Given the description of an element on the screen output the (x, y) to click on. 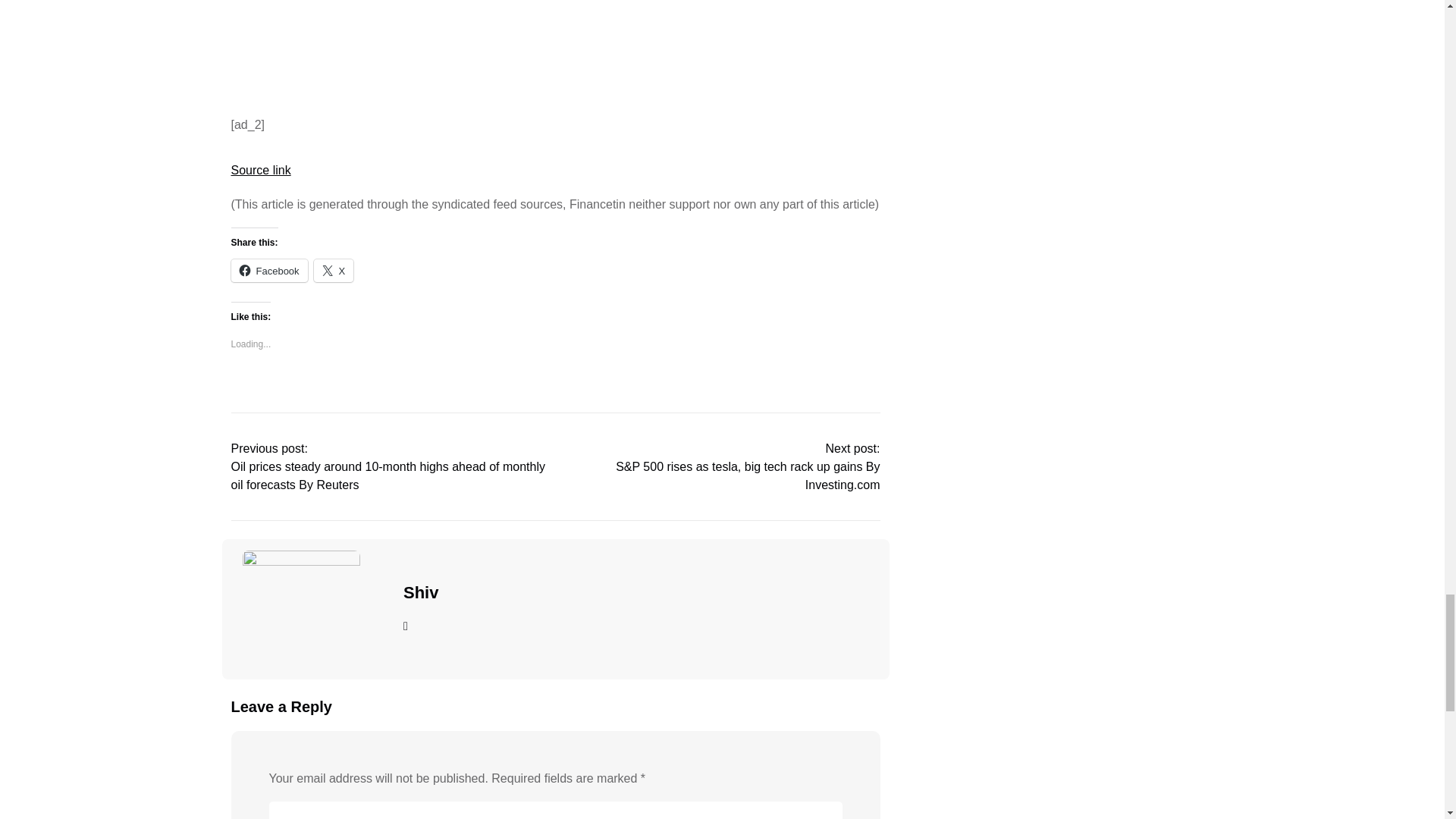
Click to share on Facebook (268, 270)
Source link (259, 169)
Click to share on X (333, 270)
Shiv (420, 592)
Facebook (268, 270)
X (333, 270)
